Given the description of an element on the screen output the (x, y) to click on. 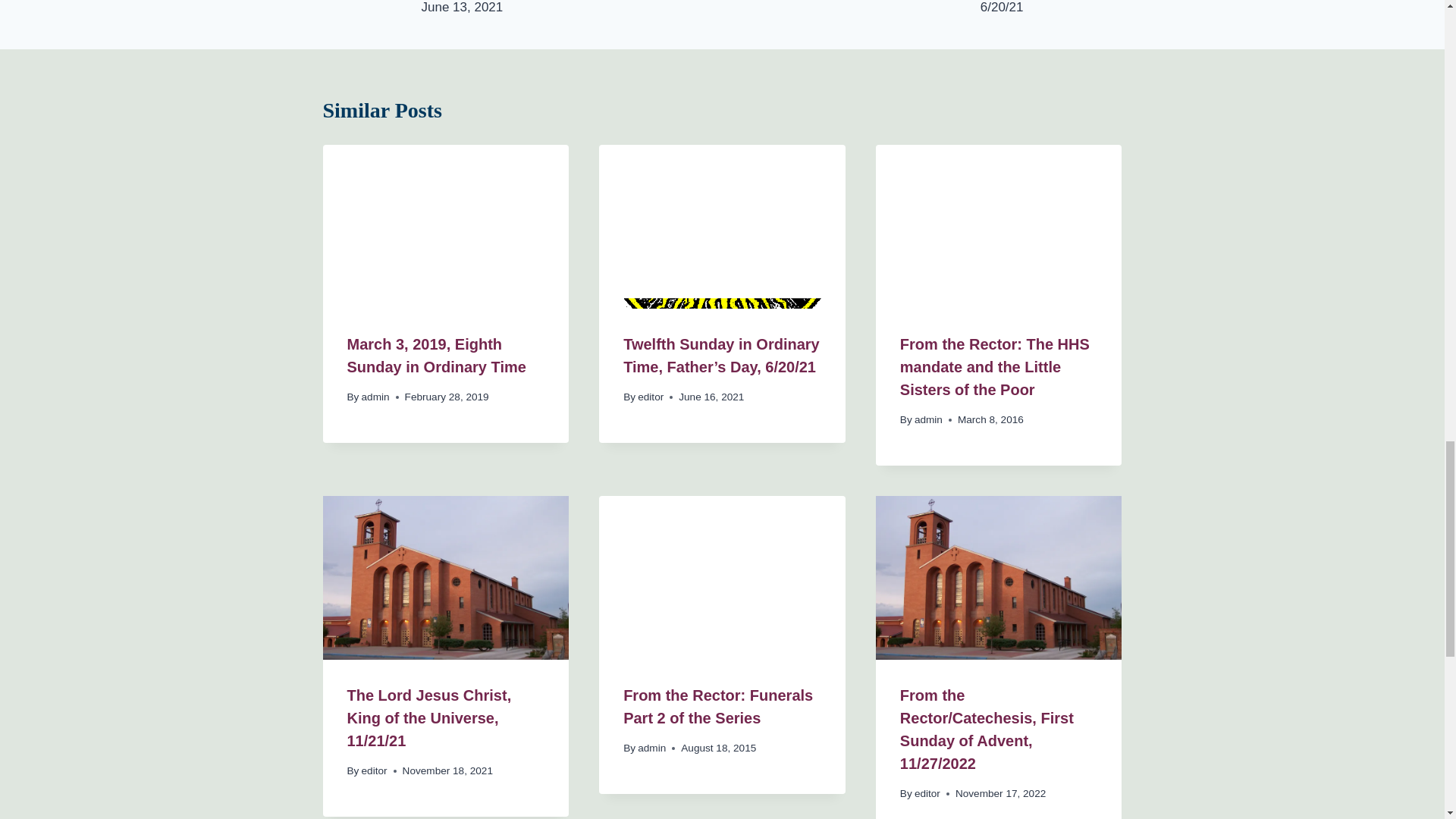
admin (375, 396)
editor (650, 396)
March 3, 2019, Eighth Sunday in Ordinary Time (436, 355)
